Given the description of an element on the screen output the (x, y) to click on. 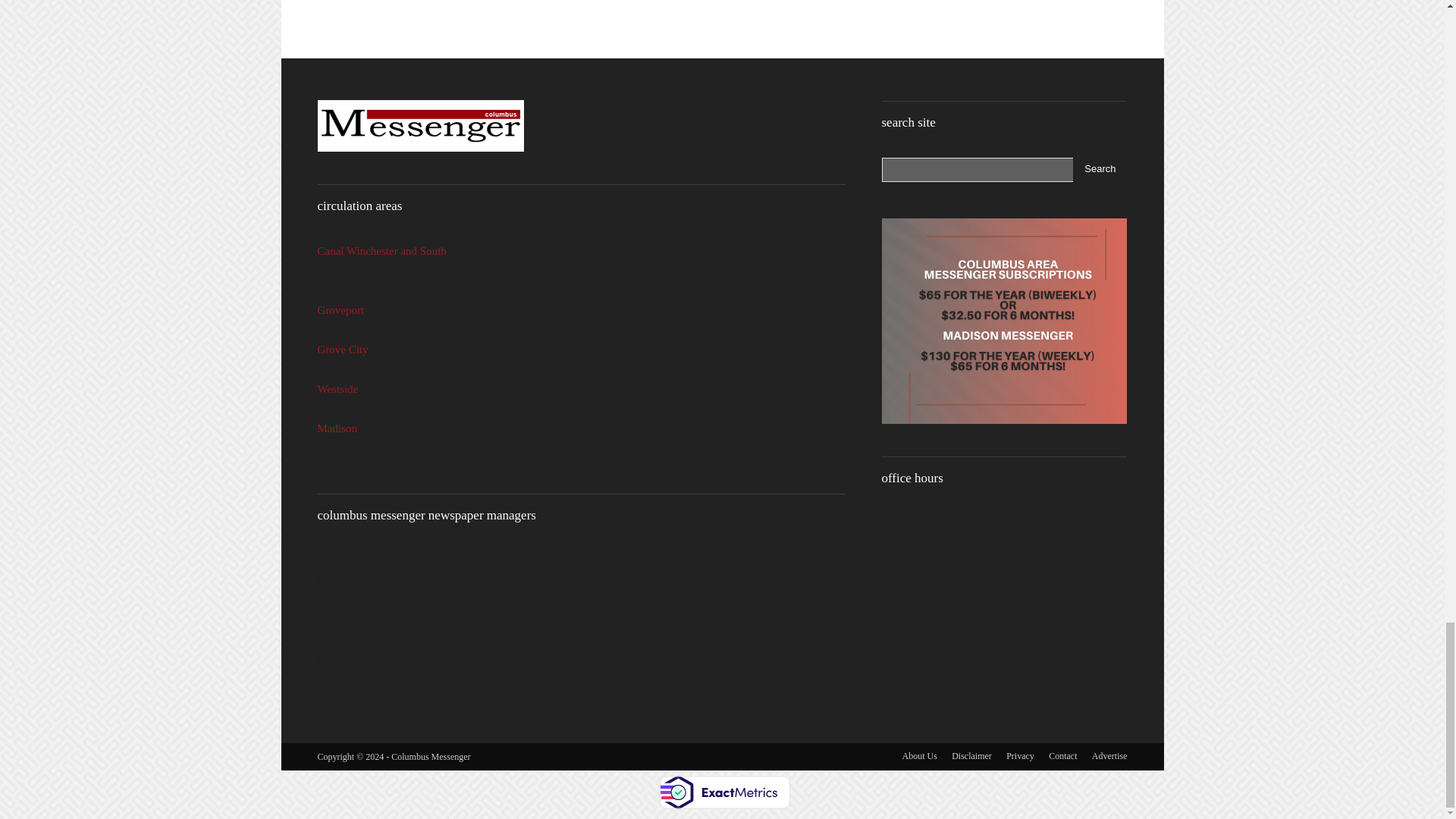
Search (1099, 169)
